Given the description of an element on the screen output the (x, y) to click on. 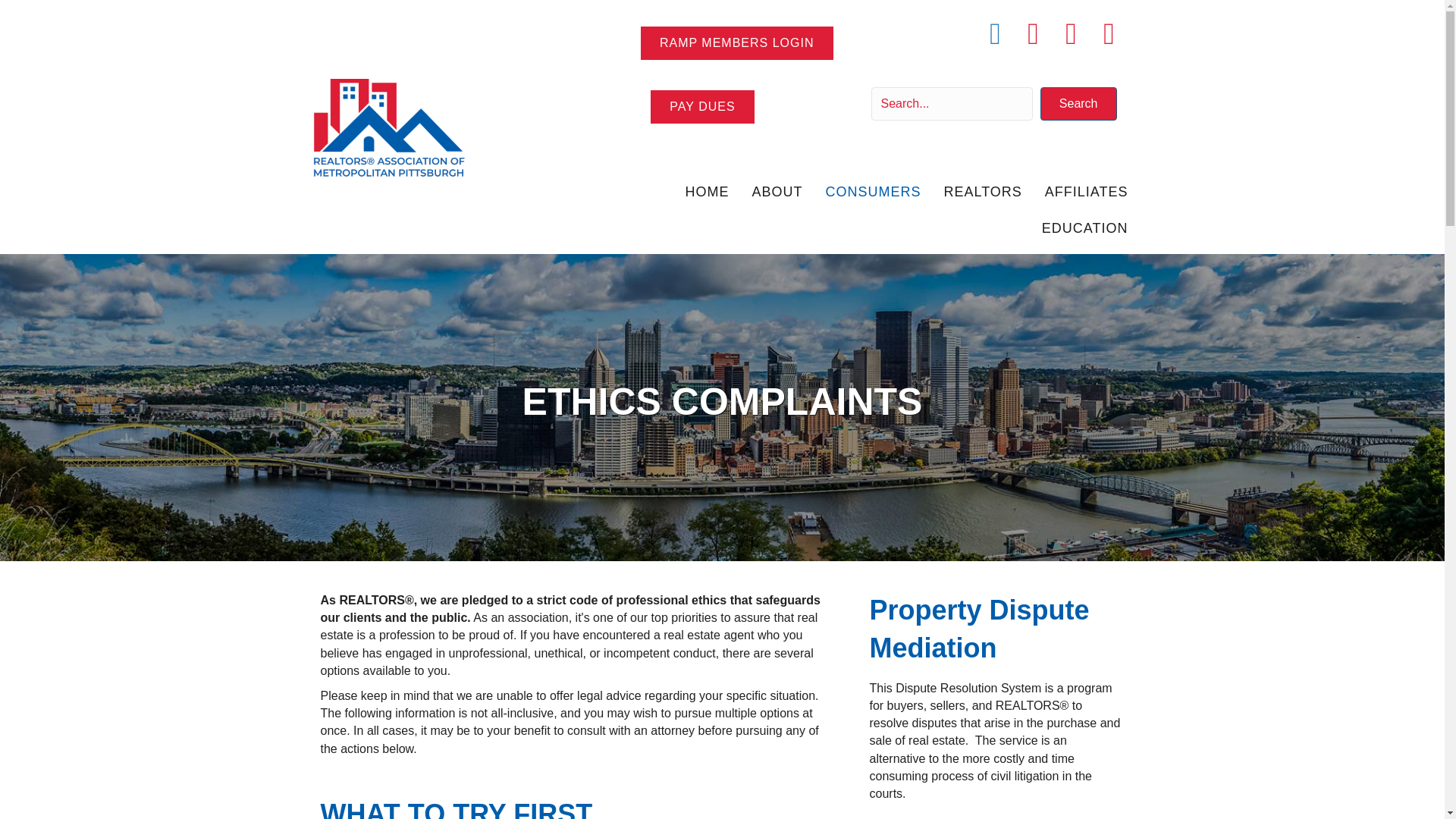
REALTORS (982, 191)
Click Here (736, 42)
PAY DUES (702, 106)
CONSUMERS (872, 191)
Click Here (702, 106)
ABOUT (776, 191)
RAMP 2019 logo corrected (388, 128)
Search (1078, 103)
HOME (706, 191)
RAMP MEMBERS LOGIN (736, 42)
